Given the description of an element on the screen output the (x, y) to click on. 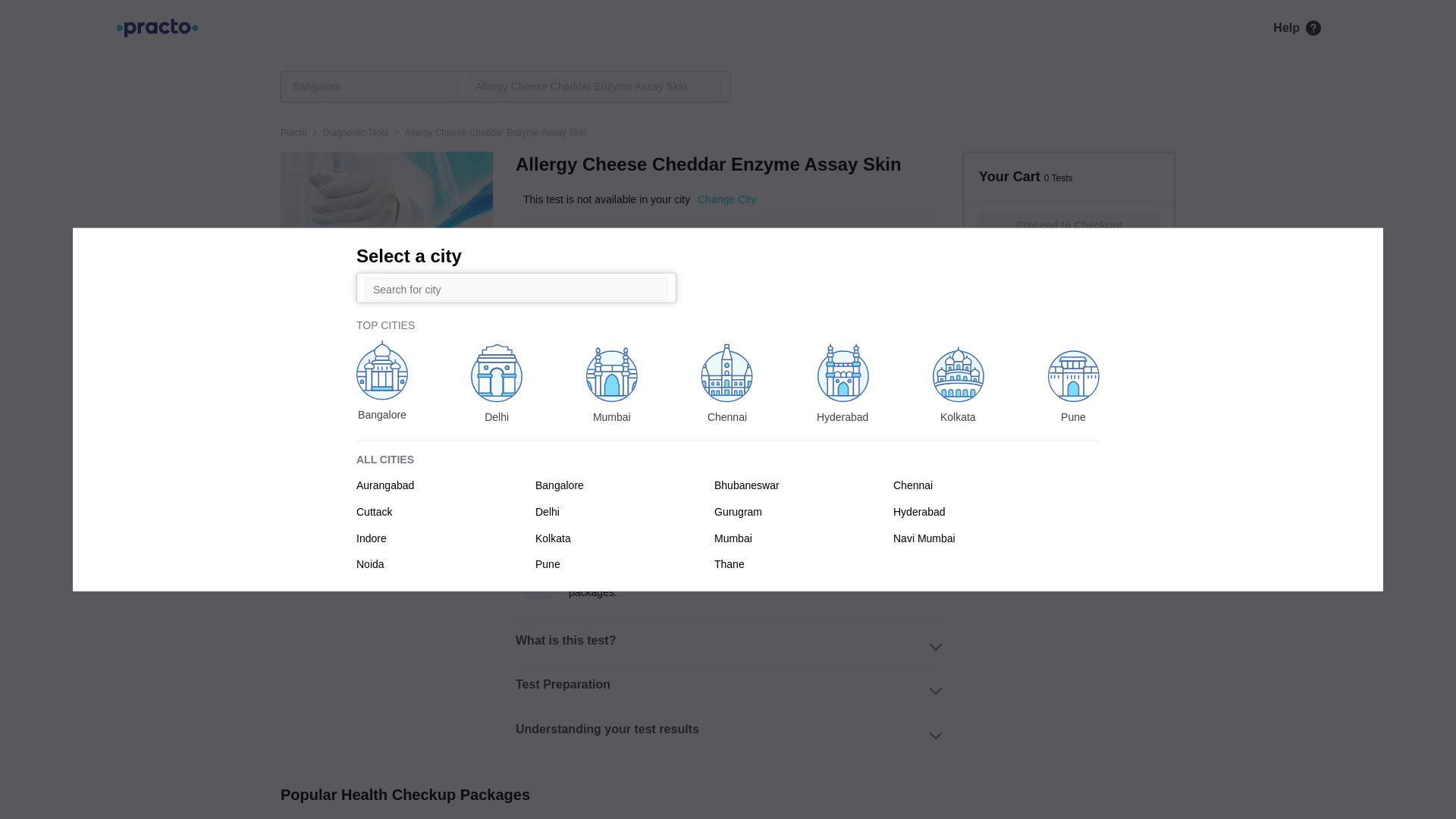
Allergy Cheese Cheddar Enzyme Assay Skin (594, 86)
Practo (294, 132)
Proceed to Checkout (1068, 225)
Allergy Cheese Cheddar Enzyme Assay Skin (594, 86)
Bangalore (370, 86)
Diagnostic Tests (355, 132)
Bangalore (370, 86)
